Given the description of an element on the screen output the (x, y) to click on. 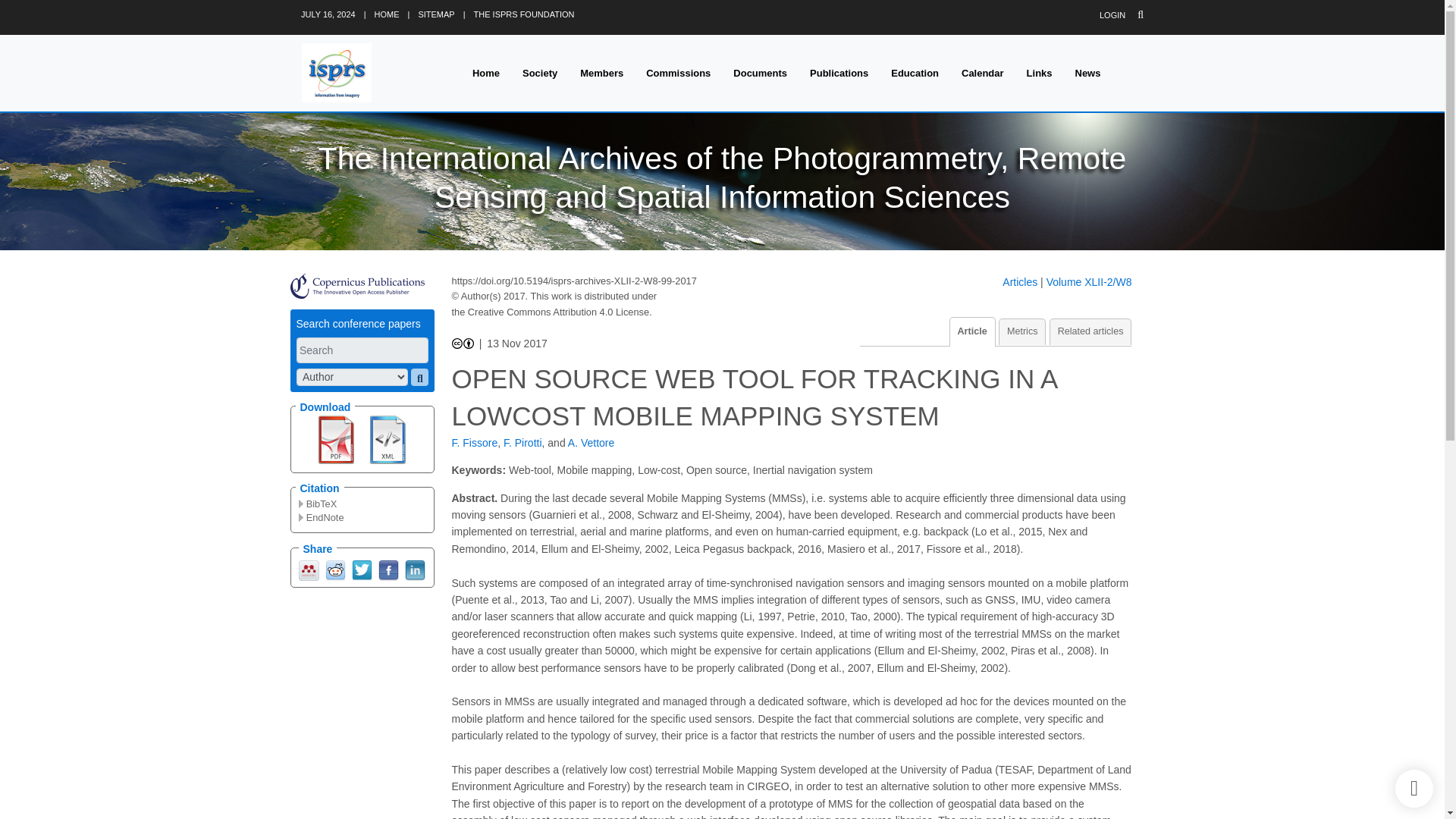
Society (539, 73)
HOME (386, 13)
Home (485, 73)
THE ISPRS FOUNDATION (524, 13)
LOGIN (1112, 14)
SITEMAP (435, 13)
